Given the description of an element on the screen output the (x, y) to click on. 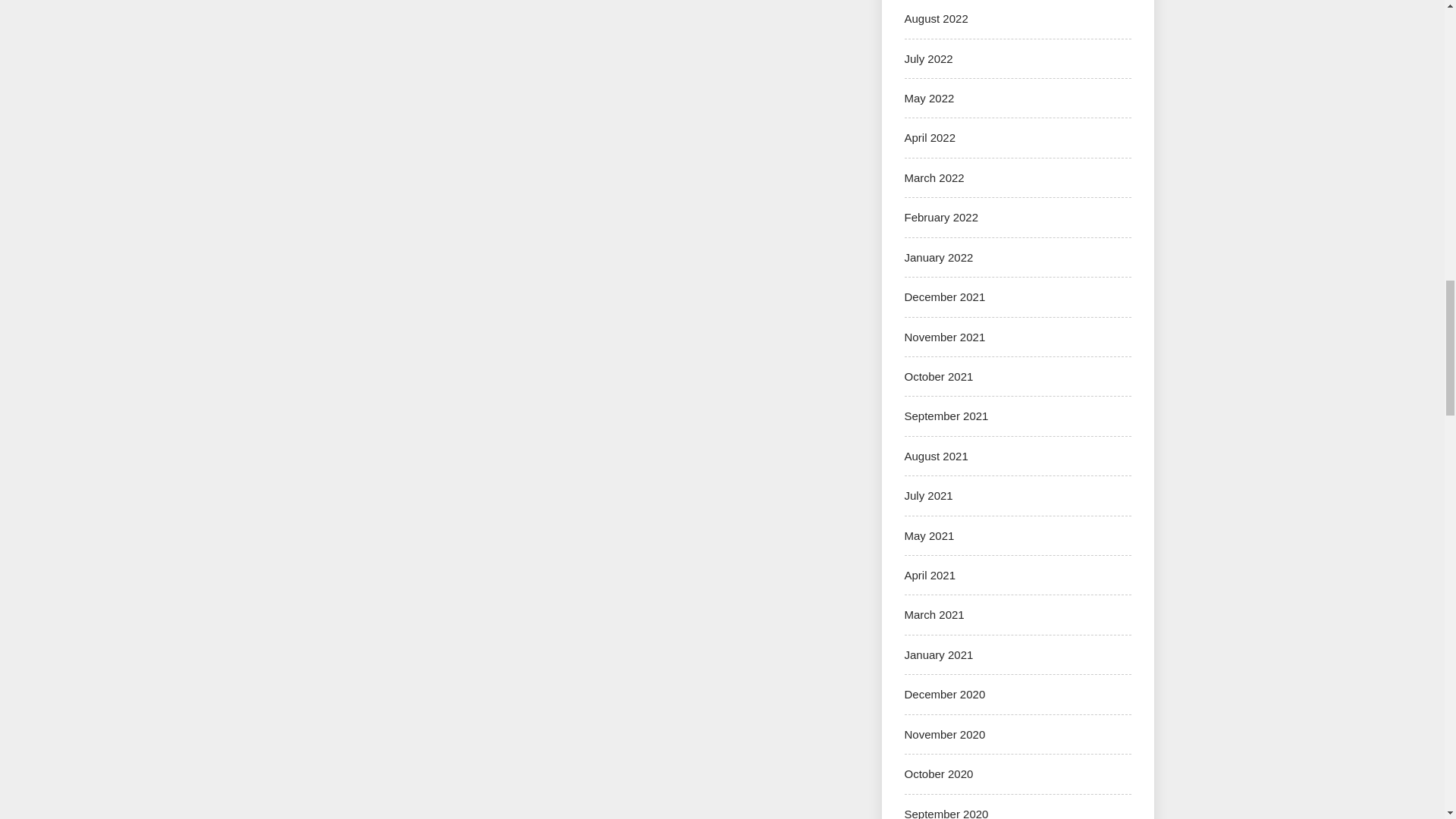
August 2022 (936, 18)
